Given the description of an element on the screen output the (x, y) to click on. 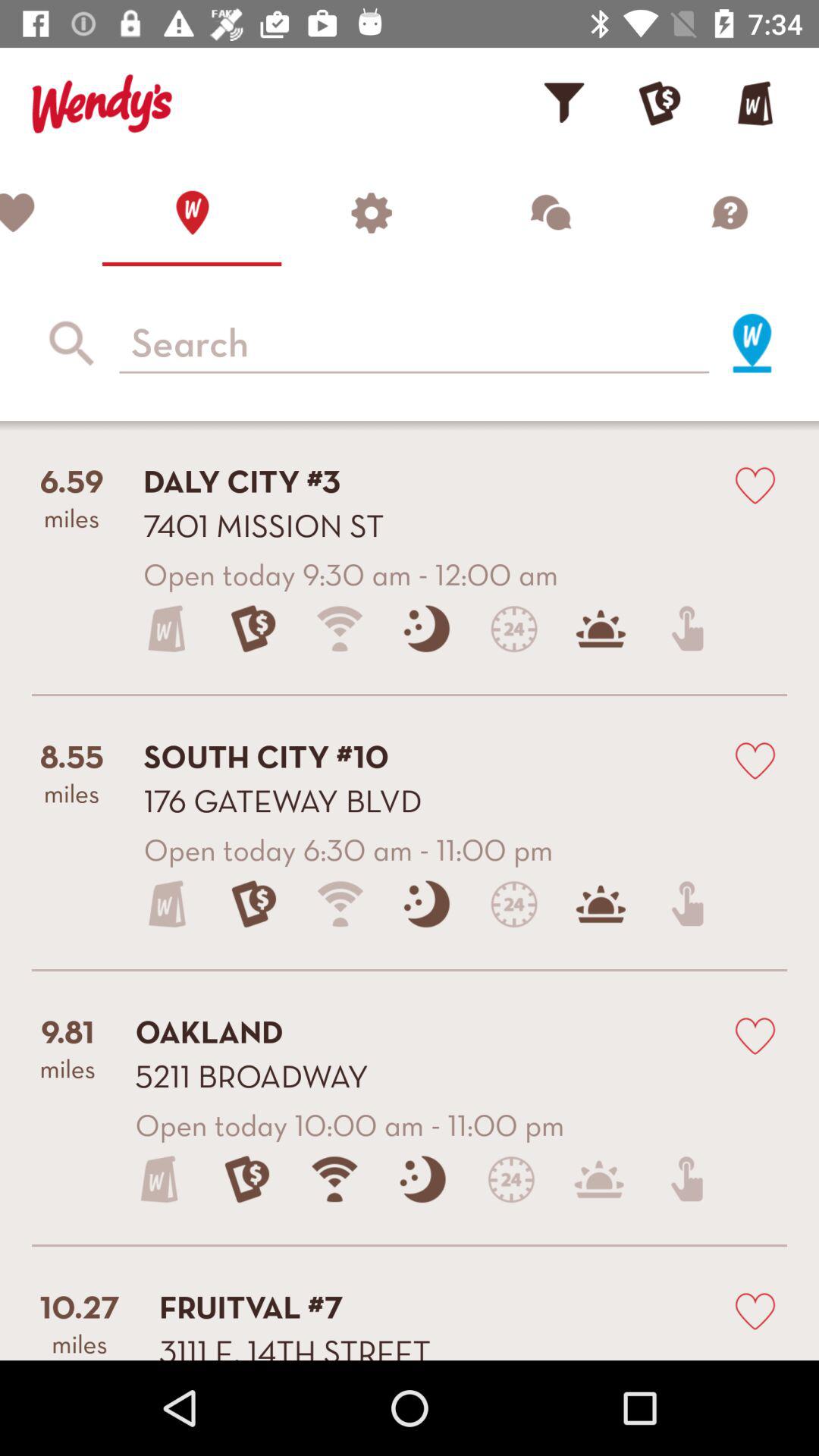
chat function (549, 212)
